Given the description of an element on the screen output the (x, y) to click on. 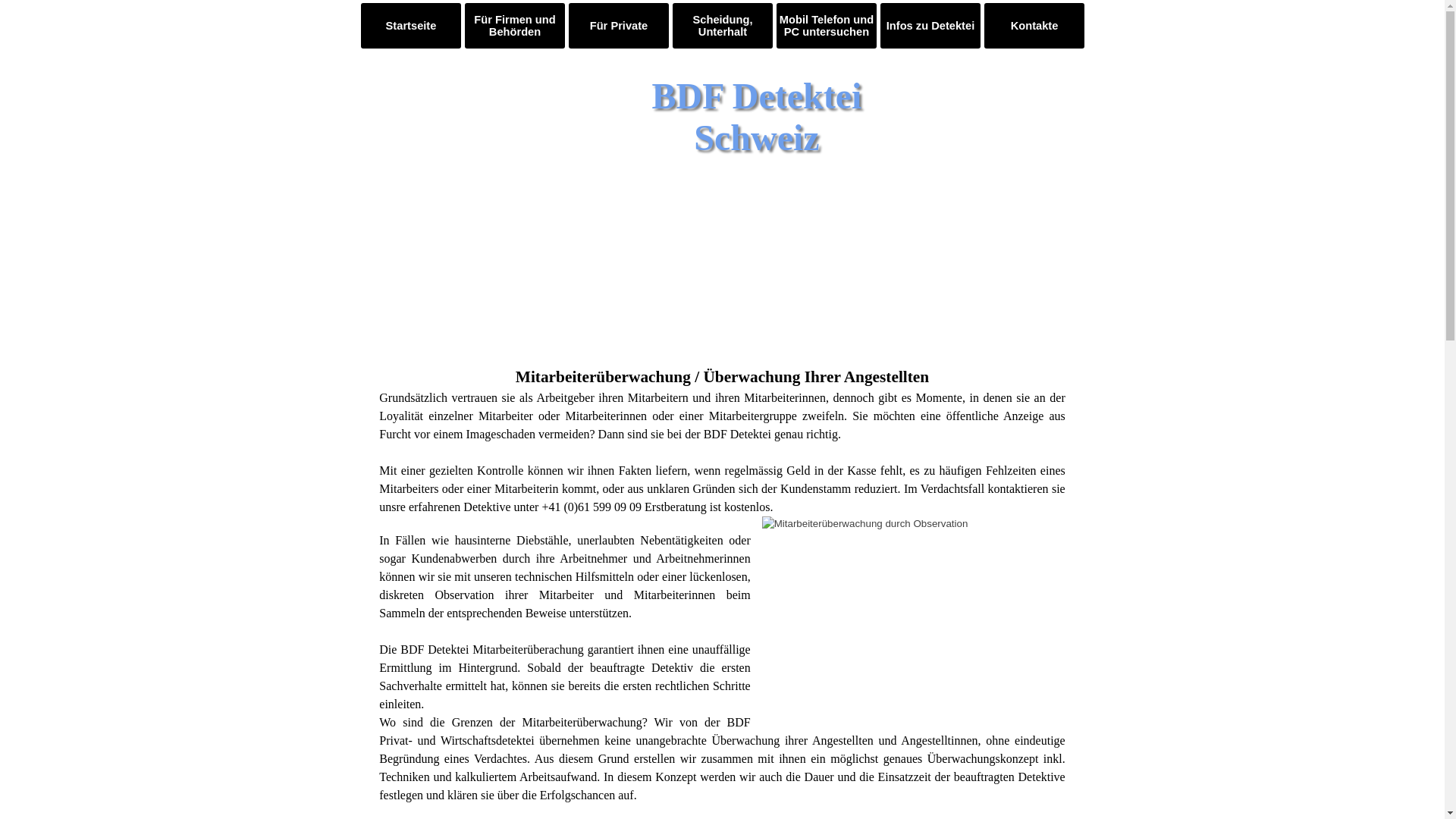
Startseite Element type: text (410, 25)
